Given the description of an element on the screen output the (x, y) to click on. 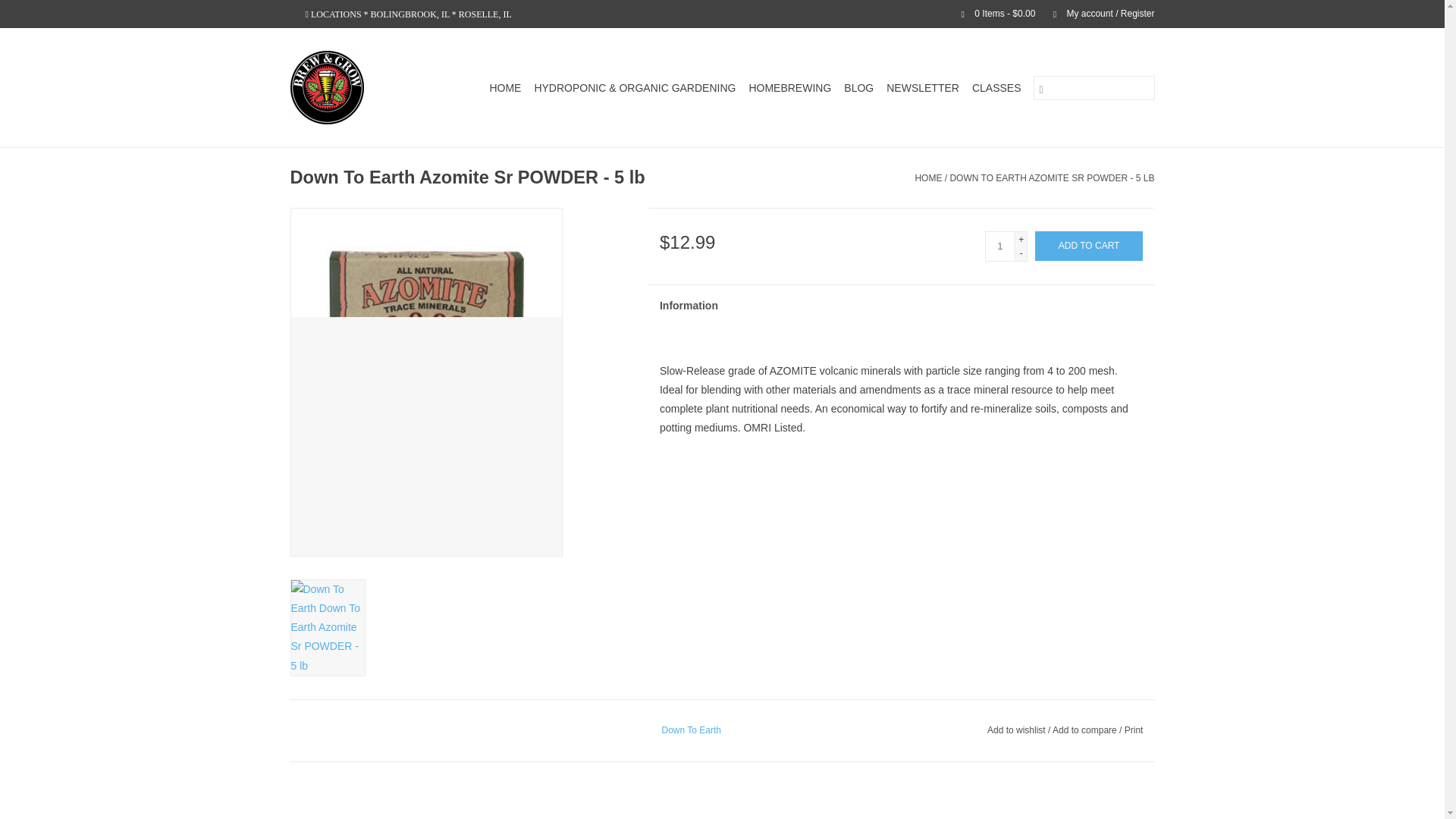
LOCATIONS (336, 14)
Cart (992, 13)
1 (999, 245)
HOME (504, 87)
My account (1096, 13)
